Given the description of an element on the screen output the (x, y) to click on. 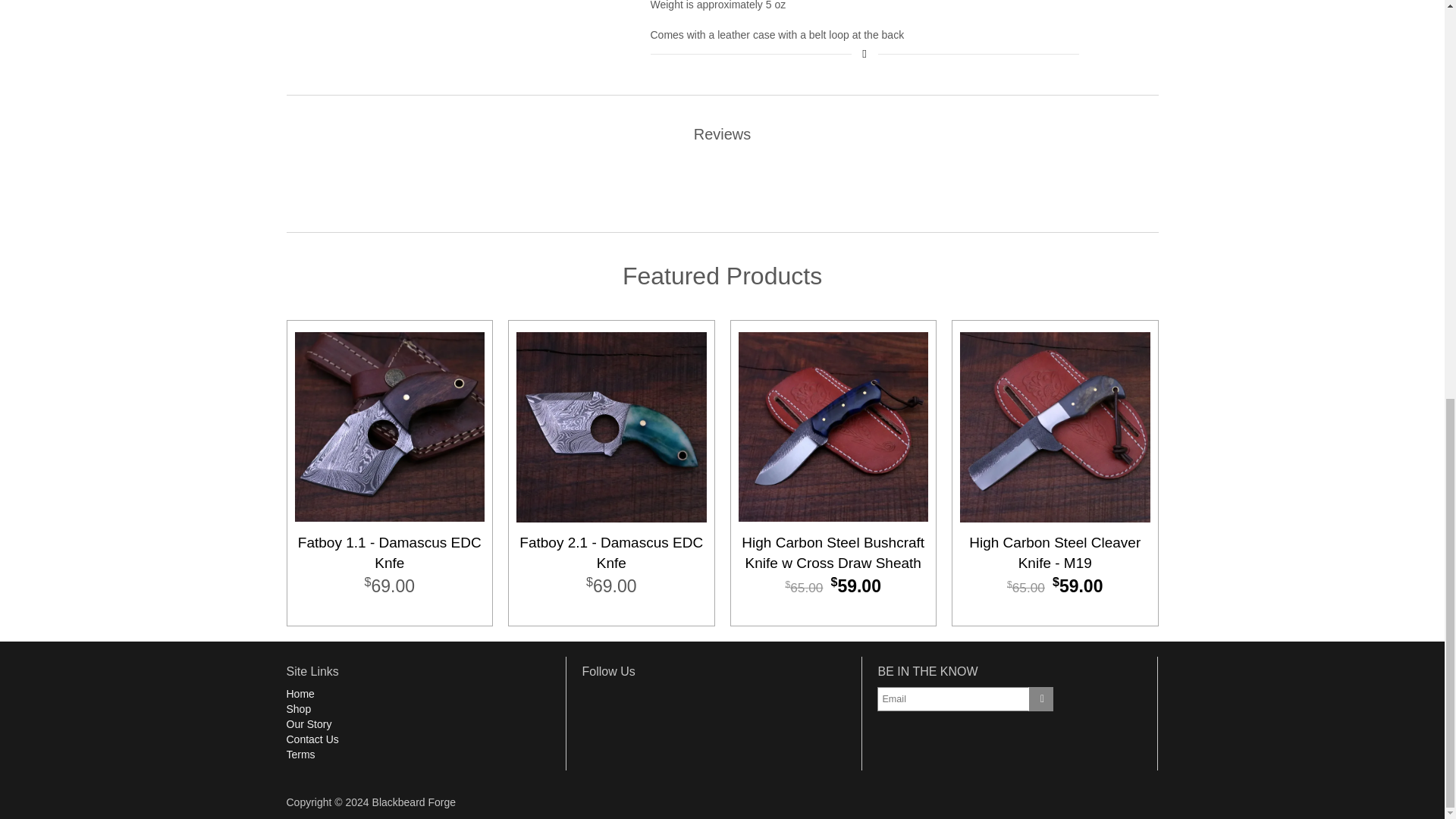
Terms (300, 754)
Home (300, 693)
Shop (298, 708)
Our Story (308, 724)
Contact Us (312, 739)
